Given the description of an element on the screen output the (x, y) to click on. 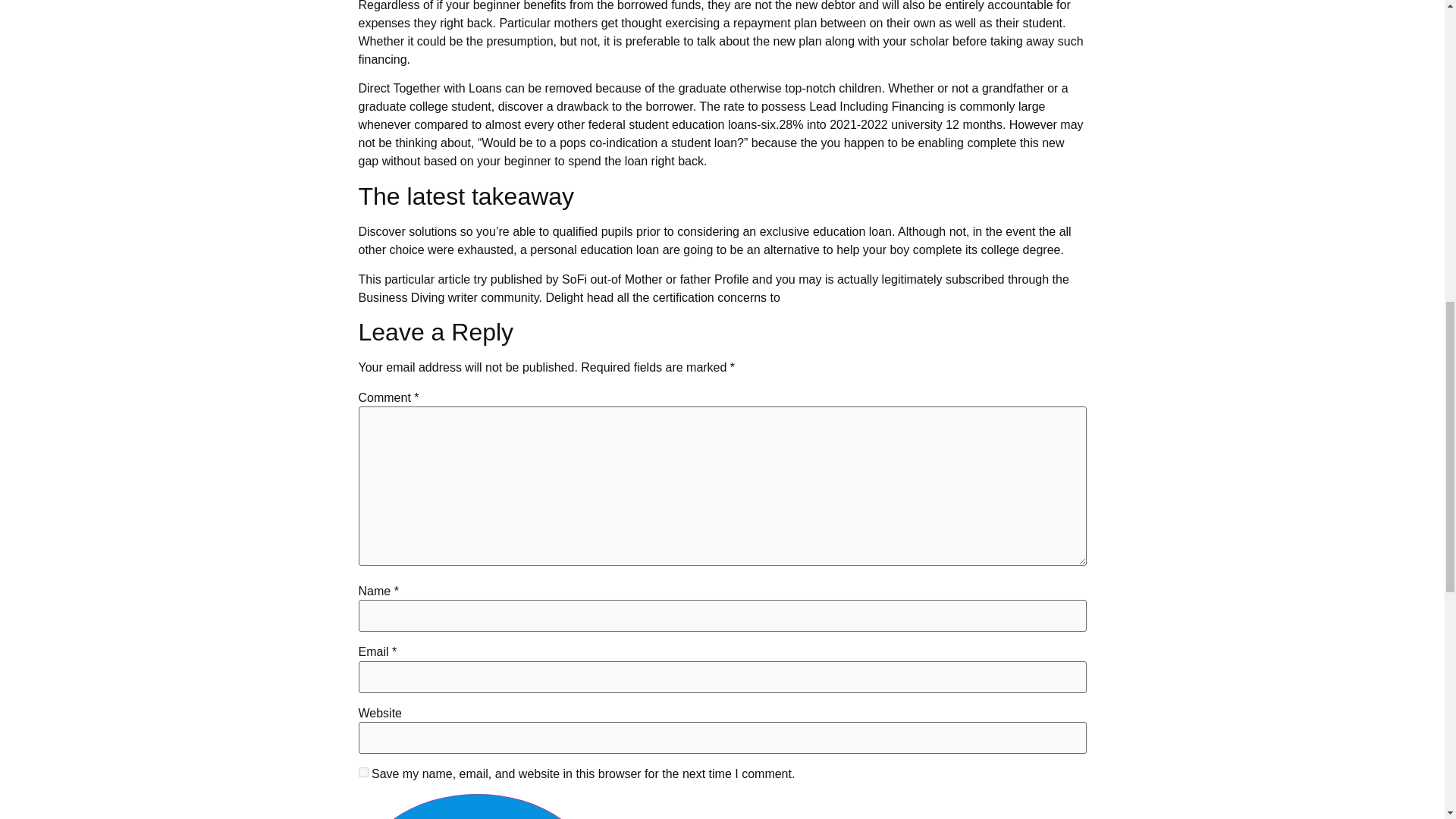
Post Comment (476, 806)
yes (363, 772)
Post Comment (476, 806)
